Given the description of an element on the screen output the (x, y) to click on. 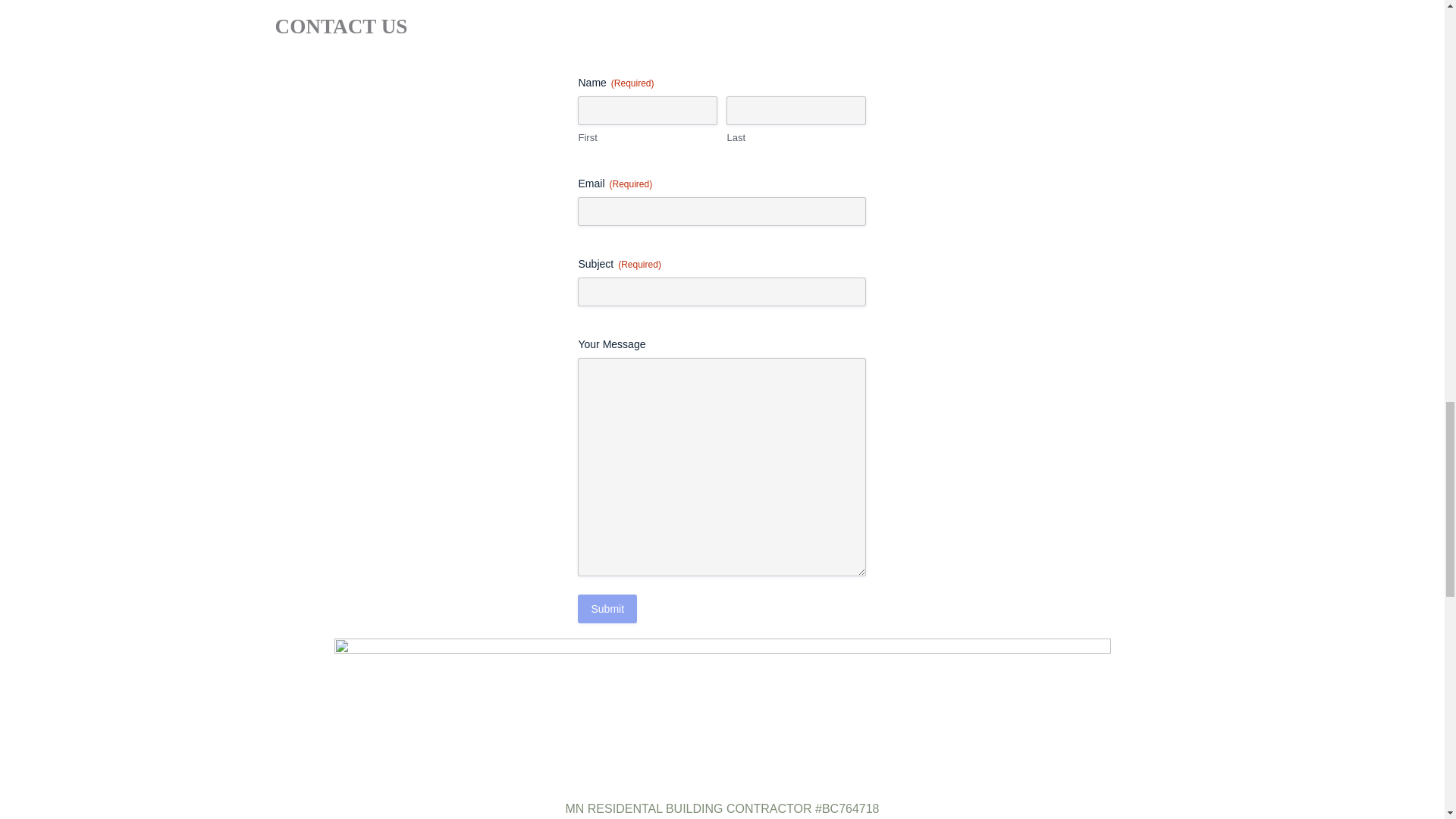
Submit (607, 608)
Submit (607, 608)
